Given the description of an element on the screen output the (x, y) to click on. 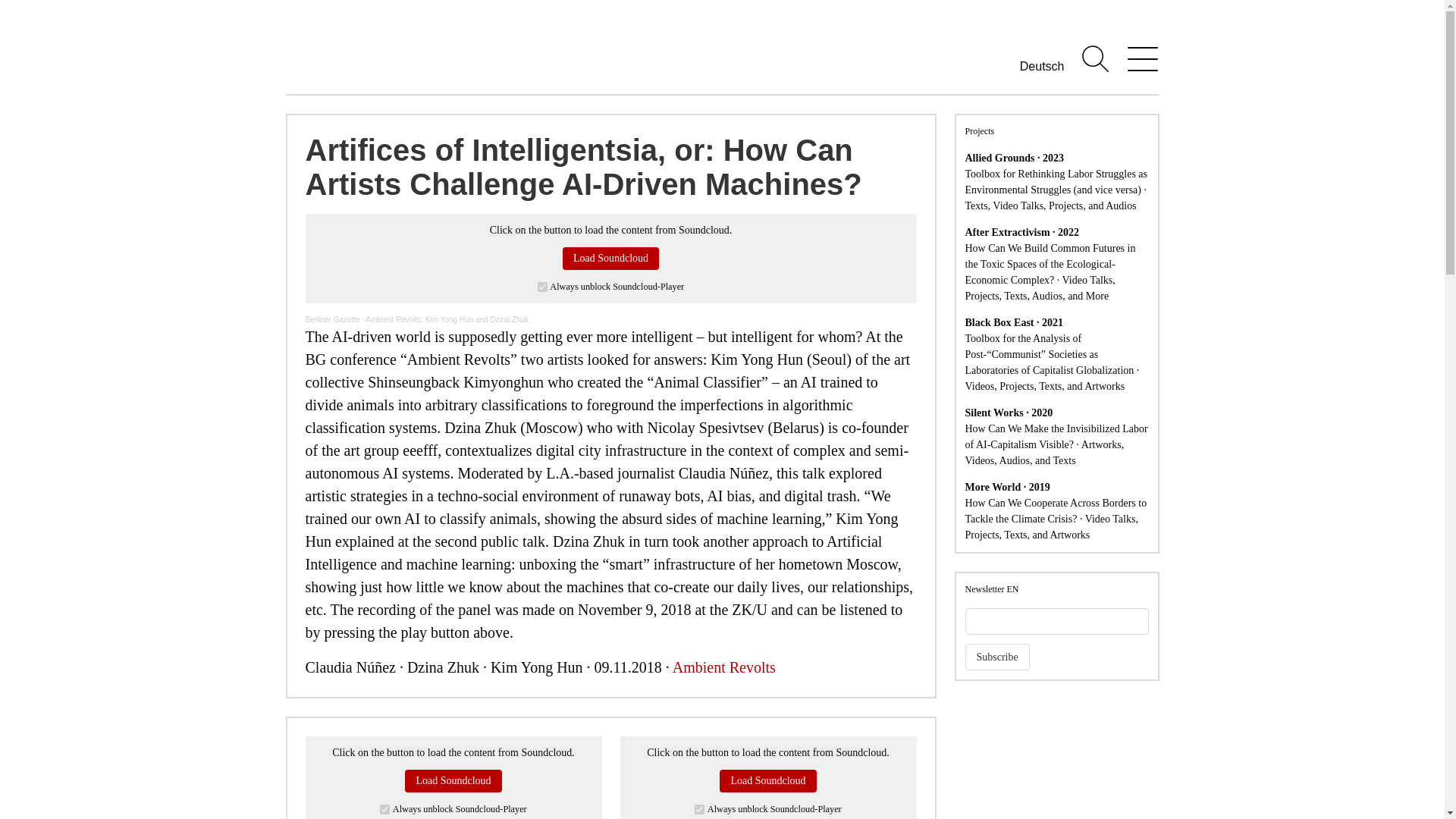
Ambient Revolts: Kim Yong Hun and Dzina Zhuk (447, 319)
1 (385, 809)
Berliner Gazette (331, 319)
1 (699, 809)
Subscribe (996, 656)
Deutsch (1042, 65)
1 (542, 286)
